Given the description of an element on the screen output the (x, y) to click on. 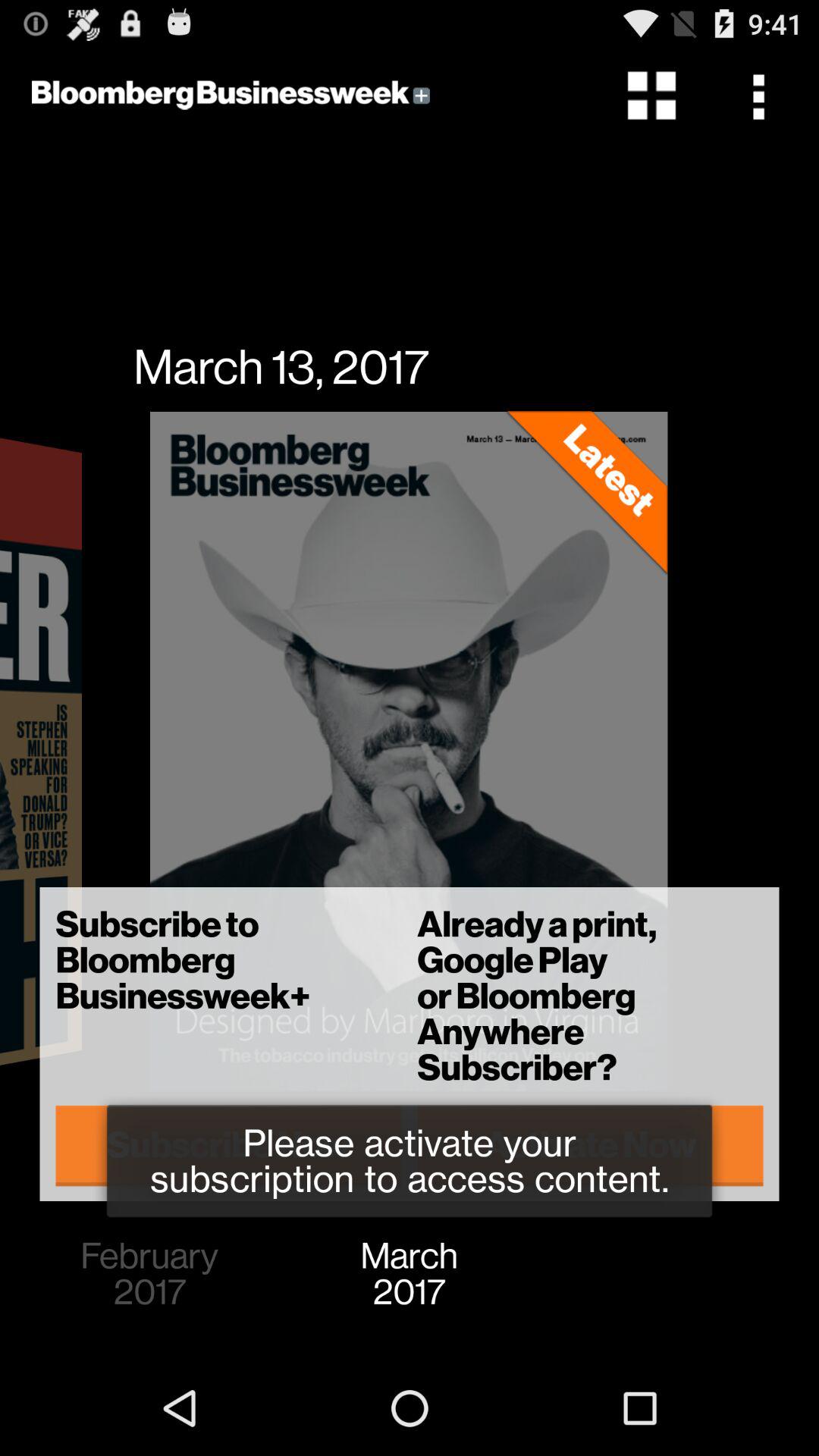
jump until subscribe now (228, 1145)
